Given the description of an element on the screen output the (x, y) to click on. 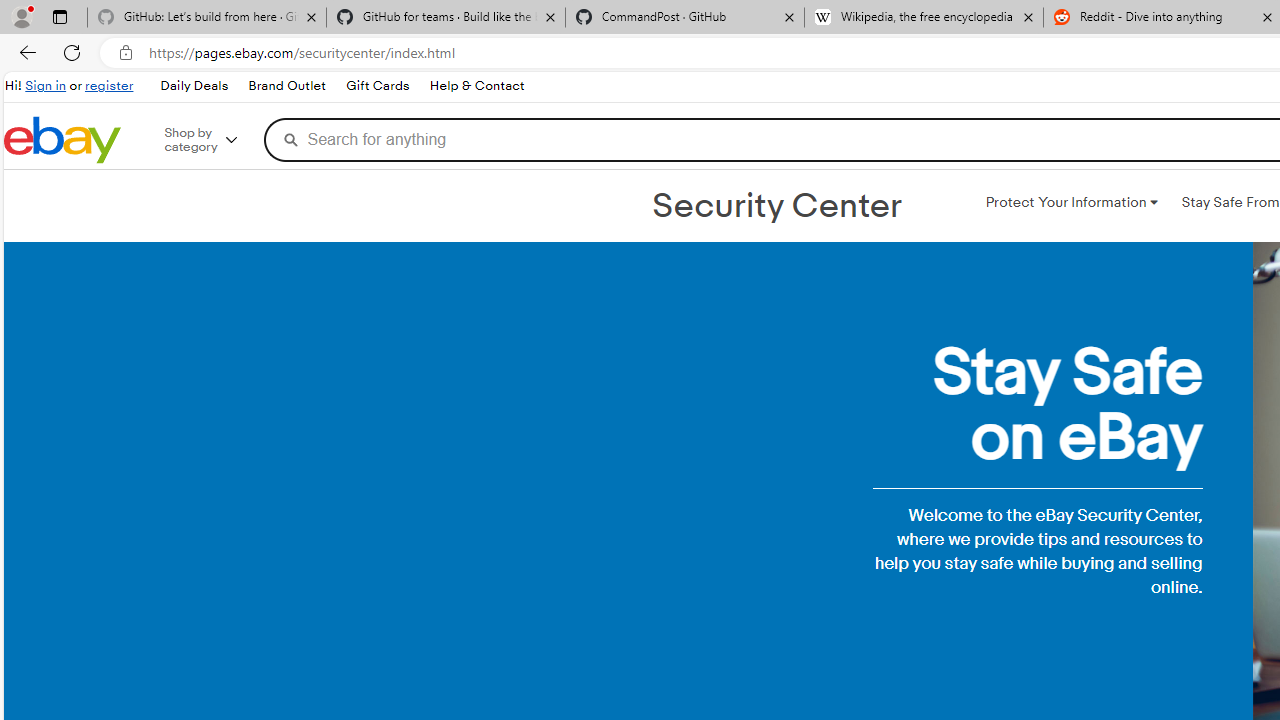
Daily Deals (193, 85)
Brand Outlet (285, 85)
eBay Home (62, 139)
Security Center (776, 206)
Daily Deals (194, 86)
Gift Cards (376, 85)
